Given the description of an element on the screen output the (x, y) to click on. 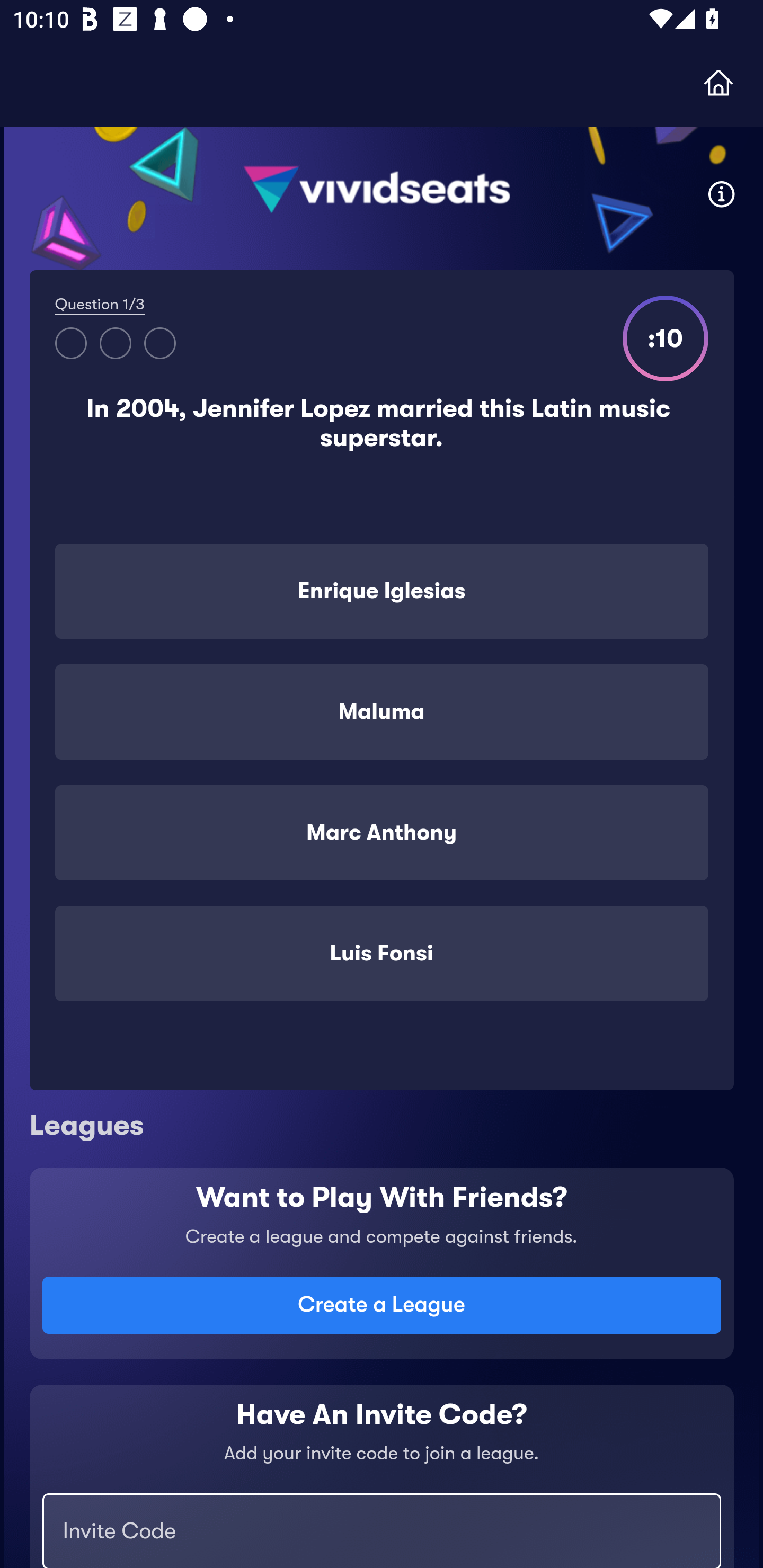
Enrique Iglesias (381, 591)
Maluma (381, 711)
Marc Anthony (381, 832)
Luis Fonsi (381, 953)
Create a League (381, 1305)
